Given the description of an element on the screen output the (x, y) to click on. 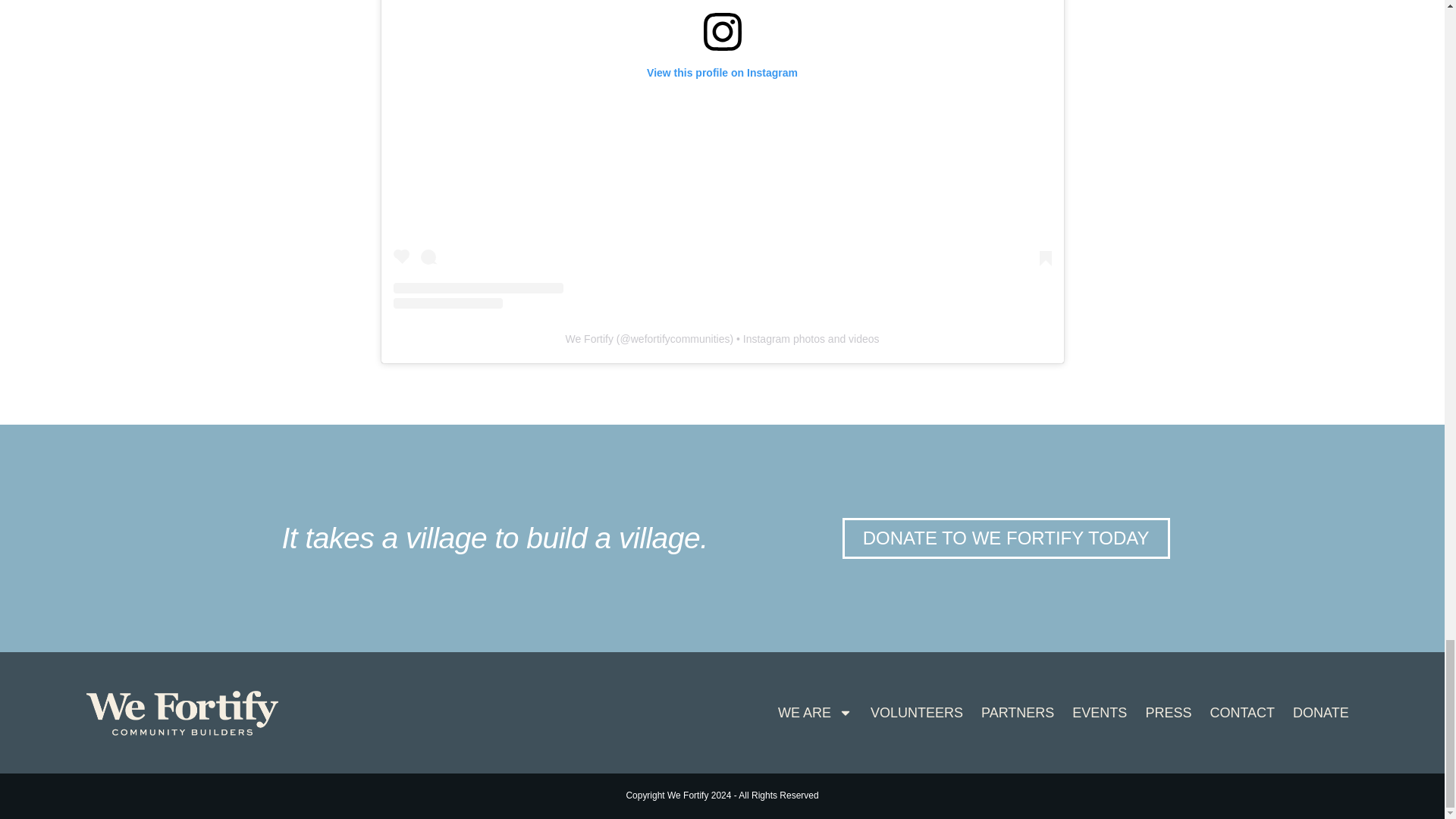
CONTACT (1241, 712)
PRESS (1167, 712)
EVENTS (1098, 712)
DONATE TO WE FORTIFY TODAY (1006, 537)
DONATE (1321, 712)
PARTNERS (1017, 712)
WE ARE (814, 712)
VOLUNTEERS (916, 712)
wefortifycommunities (680, 338)
We Fortify (588, 338)
